Given the description of an element on the screen output the (x, y) to click on. 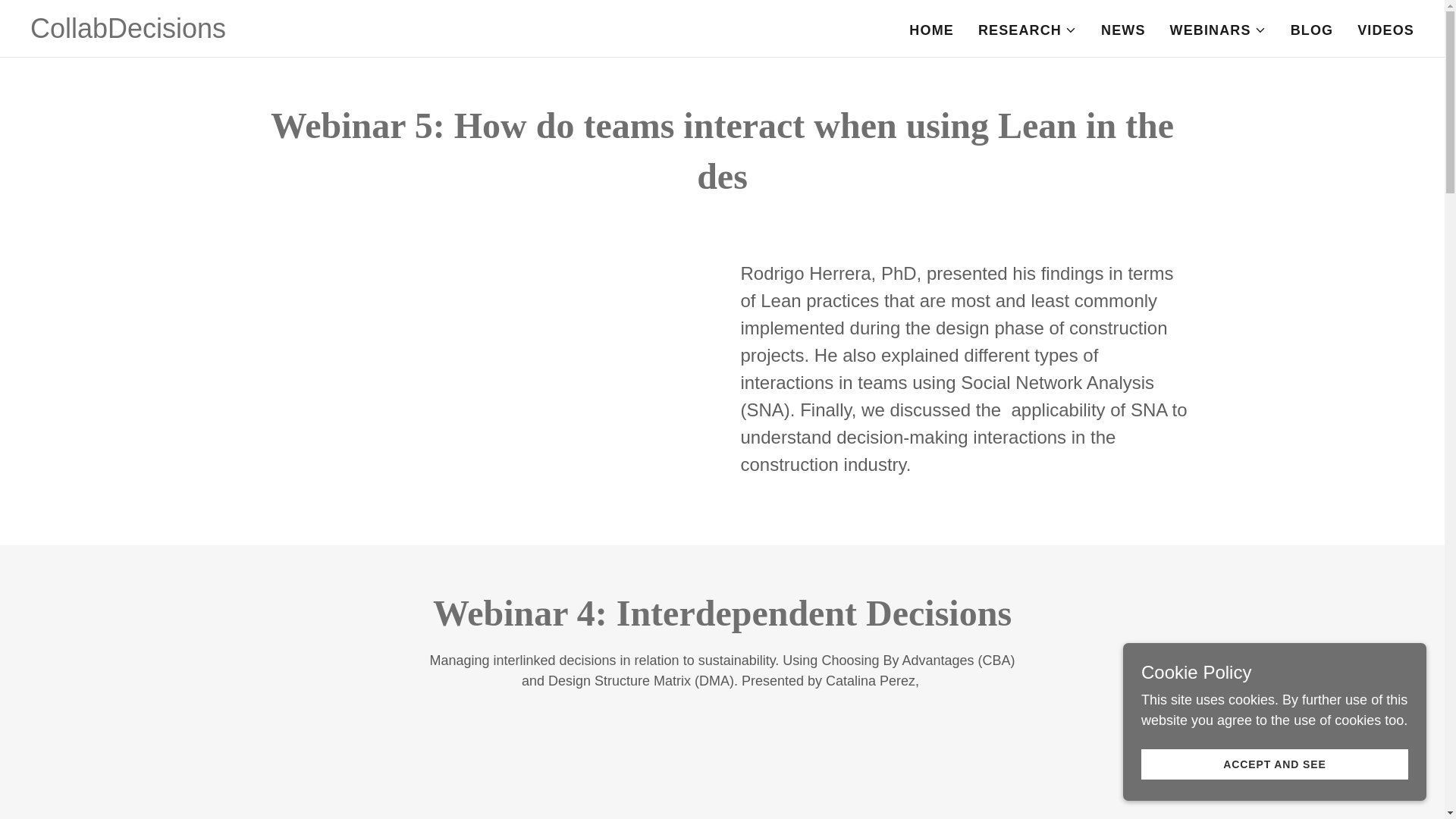
CollabDecisions (127, 32)
VIDEOS (1385, 30)
NEWS (1123, 30)
BLOG (1311, 30)
CollabDecisions (127, 32)
HOME (931, 30)
RESEARCH (1027, 30)
WEBINARS (1218, 30)
